Given the description of an element on the screen output the (x, y) to click on. 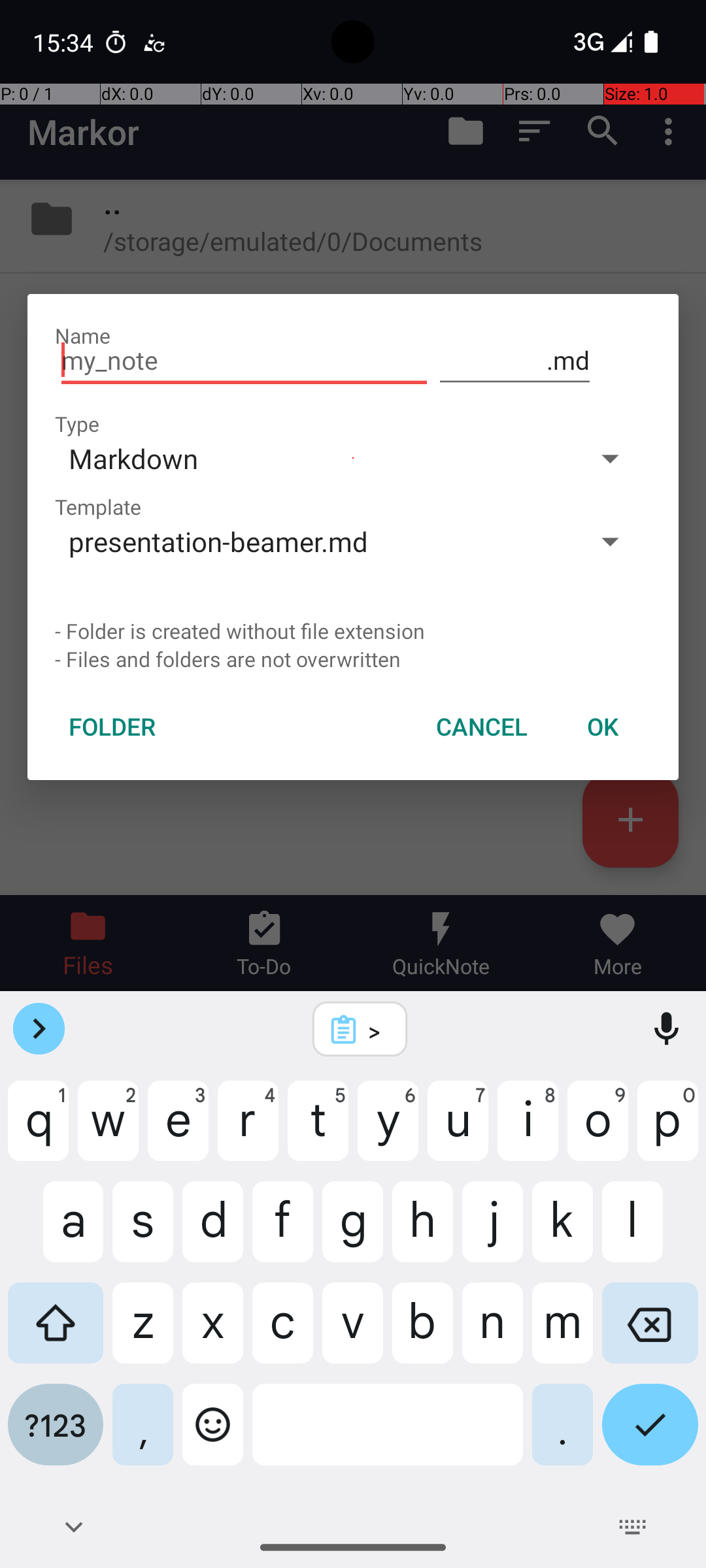
>  Element type: android.widget.TextView (377, 1029)
